Given the description of an element on the screen output the (x, y) to click on. 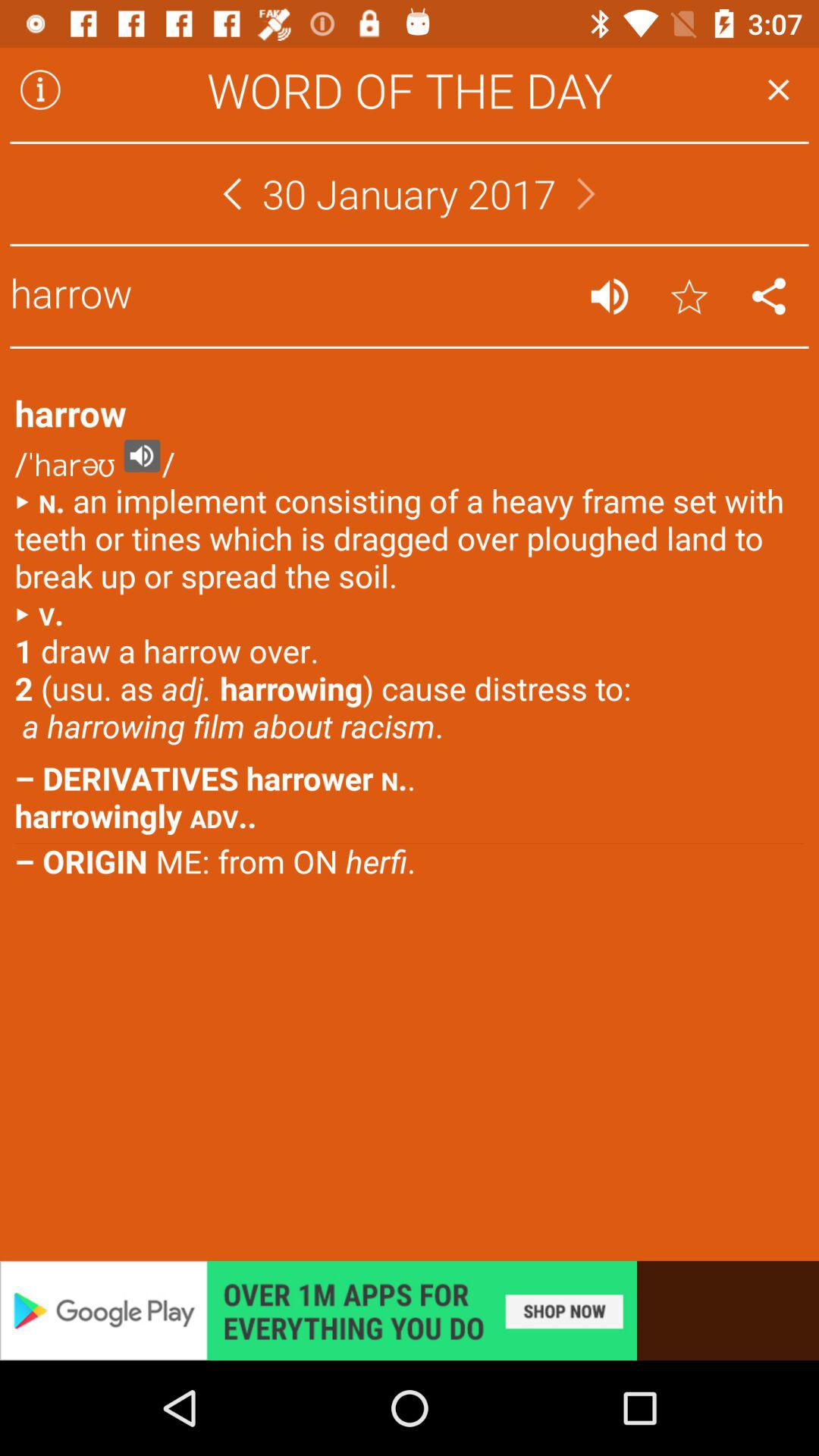
close option (778, 89)
